Given the description of an element on the screen output the (x, y) to click on. 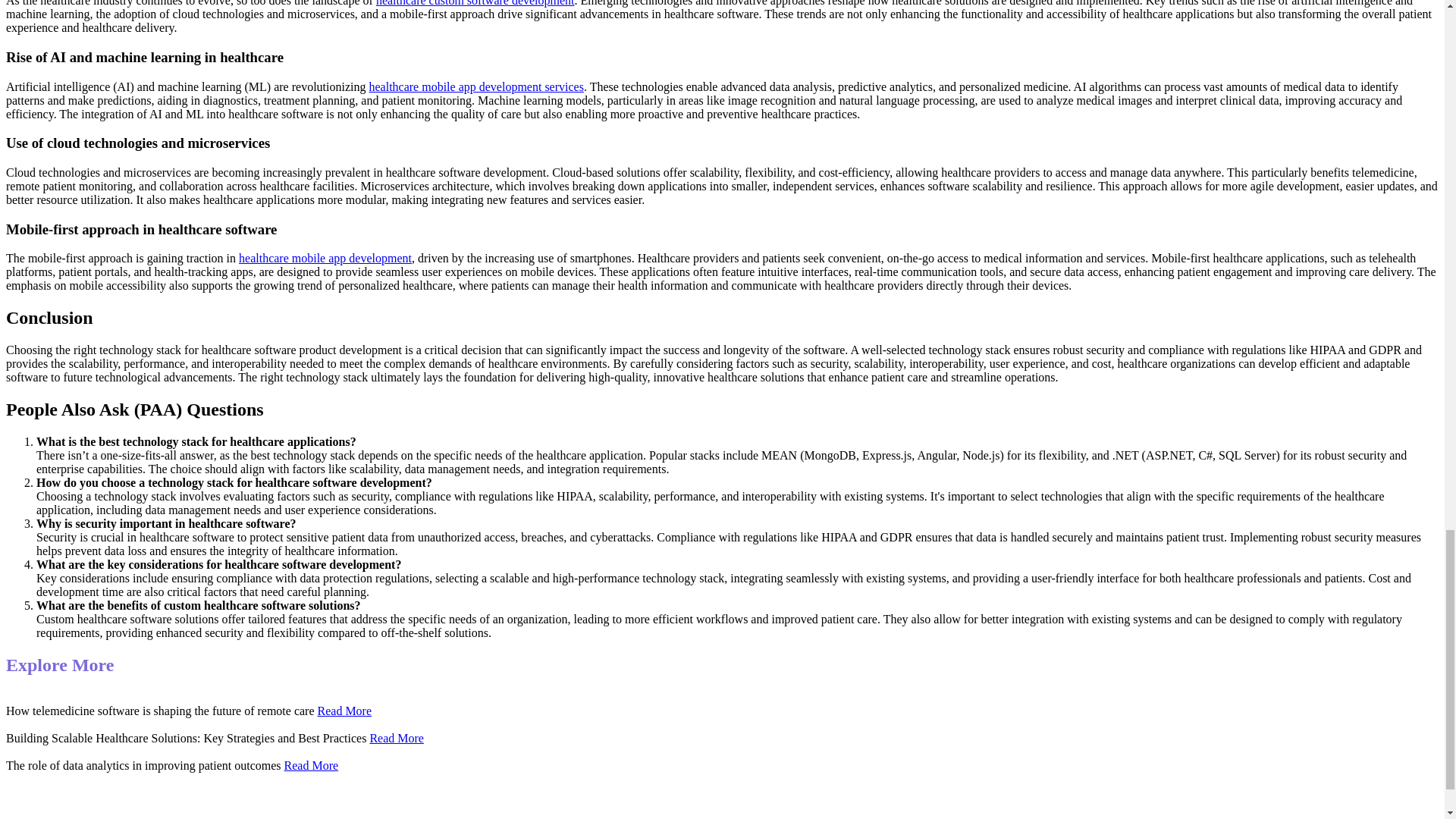
Read More (344, 710)
healthcare custom software development (475, 3)
healthcare mobile app development (325, 257)
Read More (396, 738)
healthcare mobile app development services (475, 86)
Read More (311, 765)
